Given the description of an element on the screen output the (x, y) to click on. 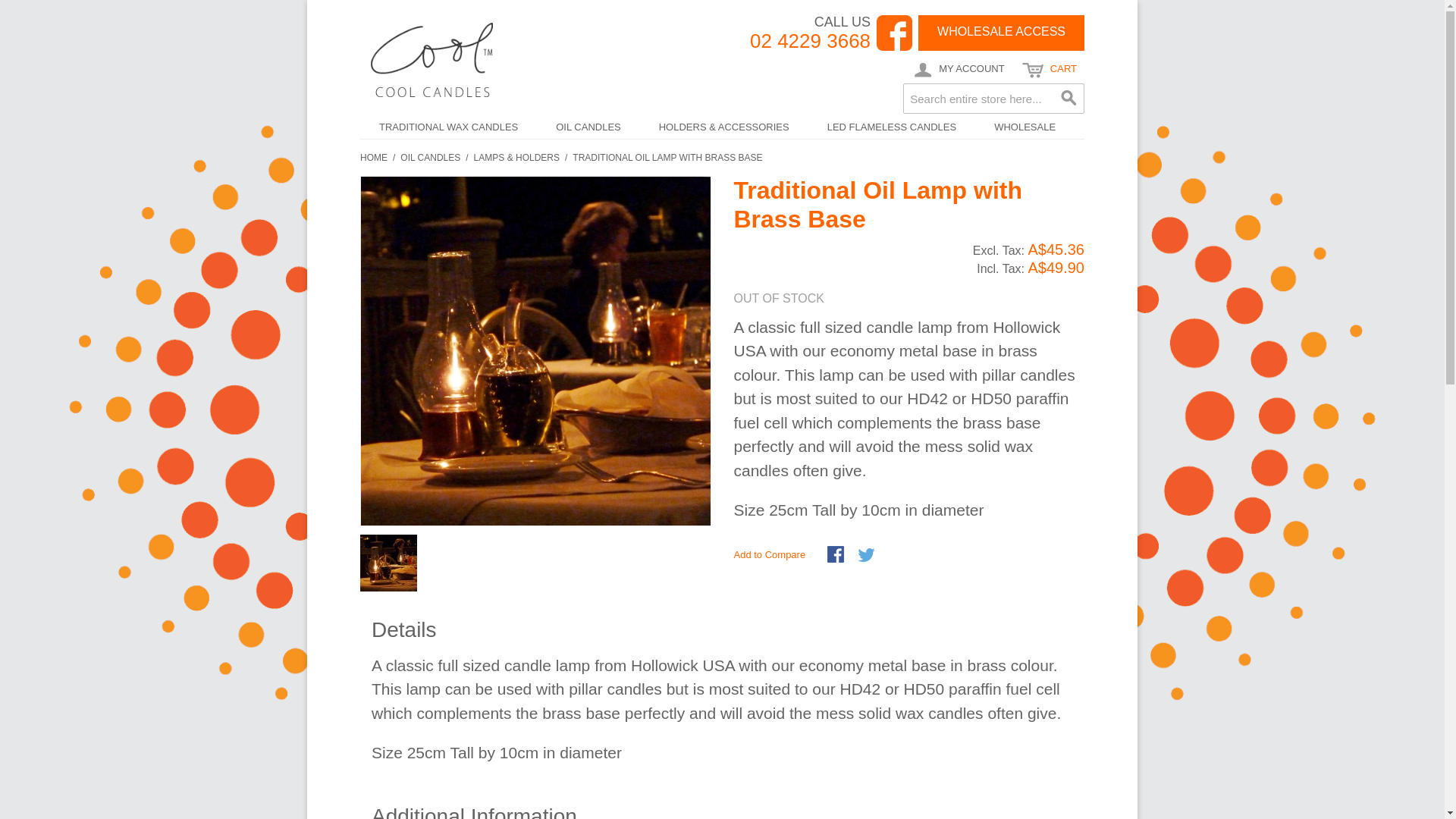
Add to Compare Element type: text (772, 555)
  Element type: text (894, 32)
WHOLESALE ACCESS Element type: text (1001, 32)
MY ACCOUNT Element type: text (957, 69)
Traditional Oil Lamp with Brass Base Element type: hover (388, 562)
02 4229 3668 Element type: text (809, 41)
LAMPS & HOLDERS Element type: text (516, 157)
Share Facebook Element type: text (837, 555)
TRADITIONAL WAX CANDLES Element type: text (448, 127)
Share on Twitter Element type: text (867, 555)
Traditional Oil Lamp with Brass Base Element type: hover (535, 351)
OIL CANDLES Element type: text (588, 127)
Search Element type: hover (1069, 98)
TRADITIONAL OIL LAMP WITH BRASS BASE Element type: text (667, 157)
HOME Element type: text (373, 157)
HOLDERS & ACCESSORIES Element type: text (724, 127)
LED FLAMELESS CANDLES Element type: text (891, 127)
OIL CANDLES Element type: text (430, 157)
CART Element type: text (1049, 69)
WHOLESALE Element type: text (1024, 127)
